Given the description of an element on the screen output the (x, y) to click on. 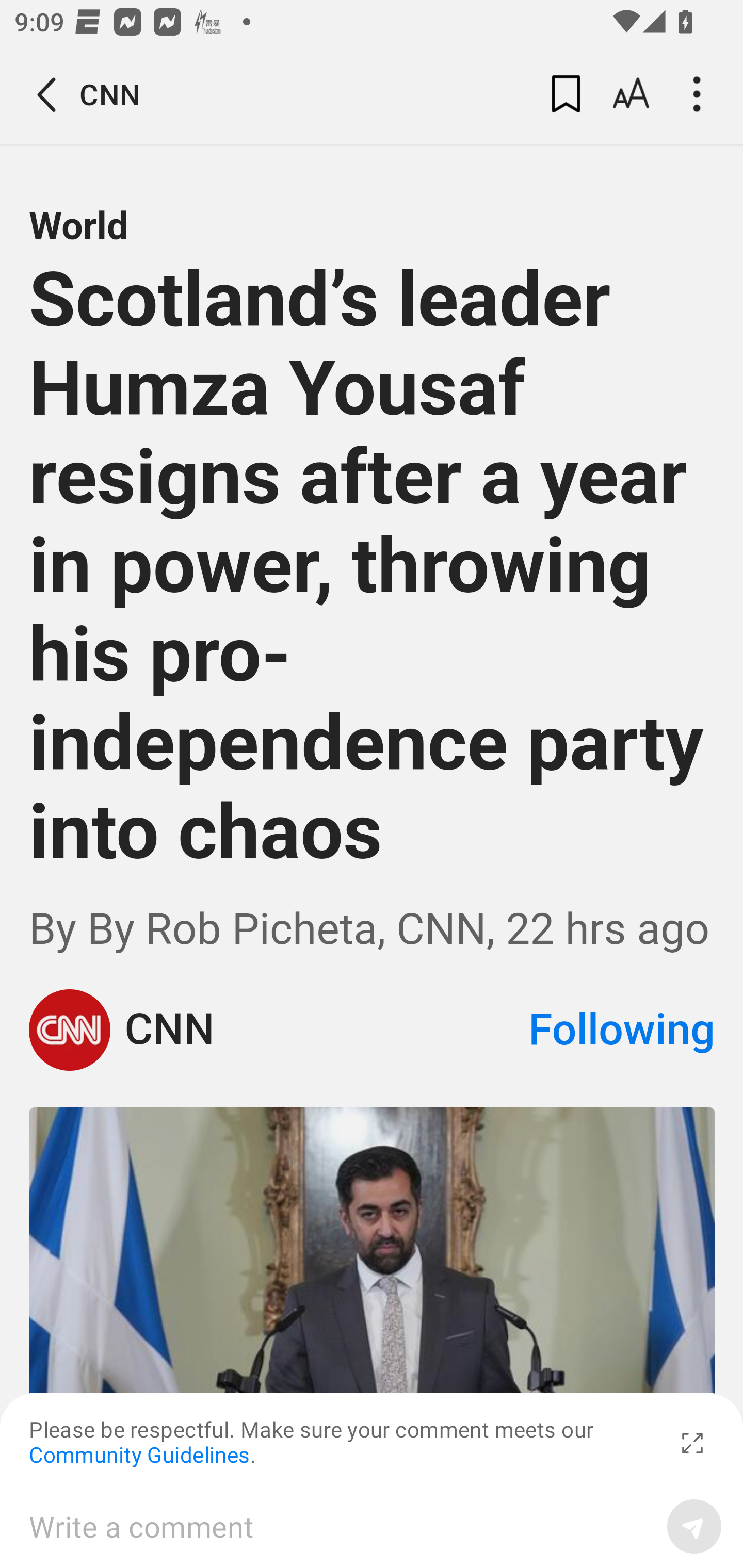
Write a comment (340, 1526)
